Given the description of an element on the screen output the (x, y) to click on. 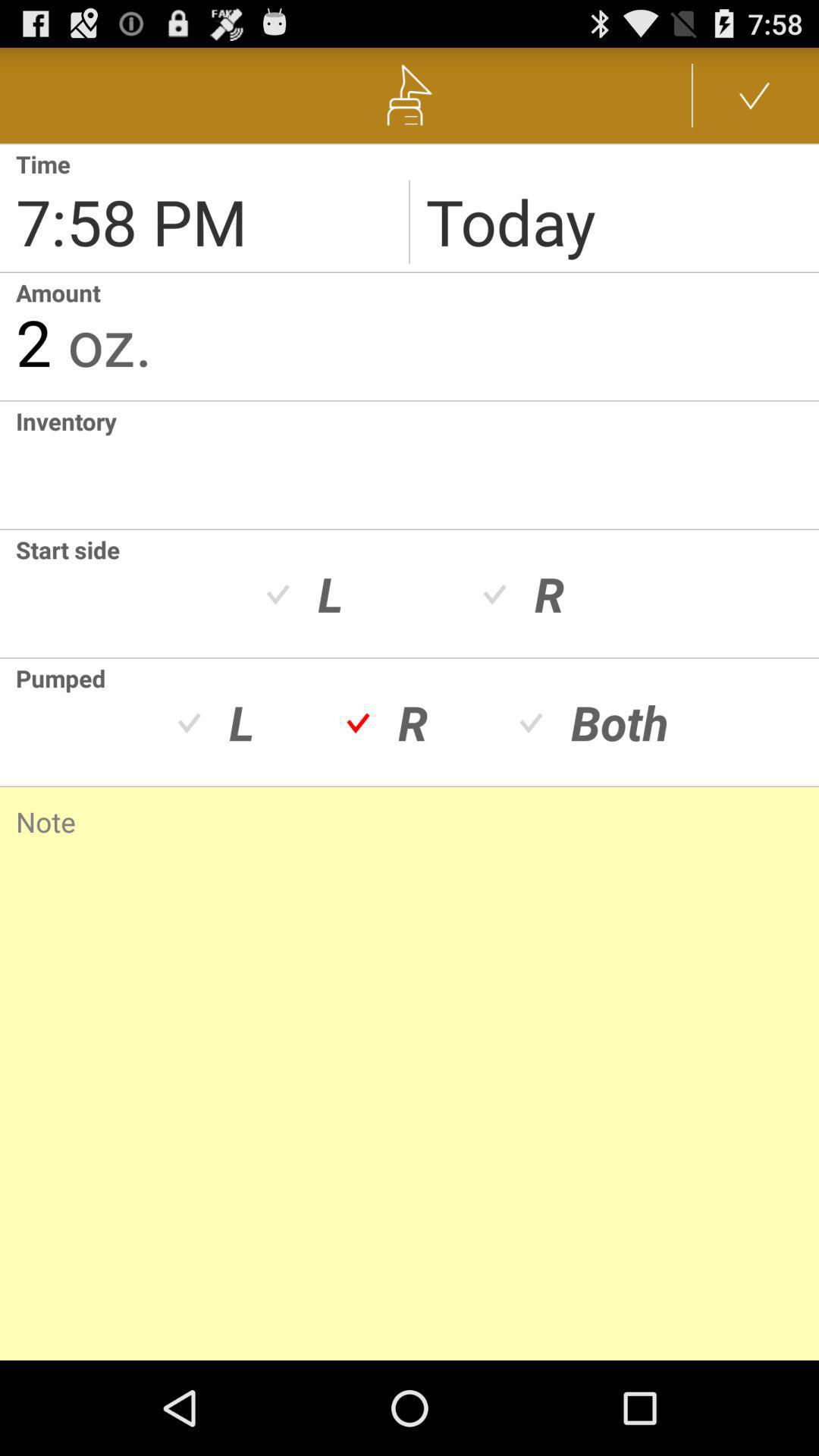
change reminder time (204, 207)
